Given the description of an element on the screen output the (x, y) to click on. 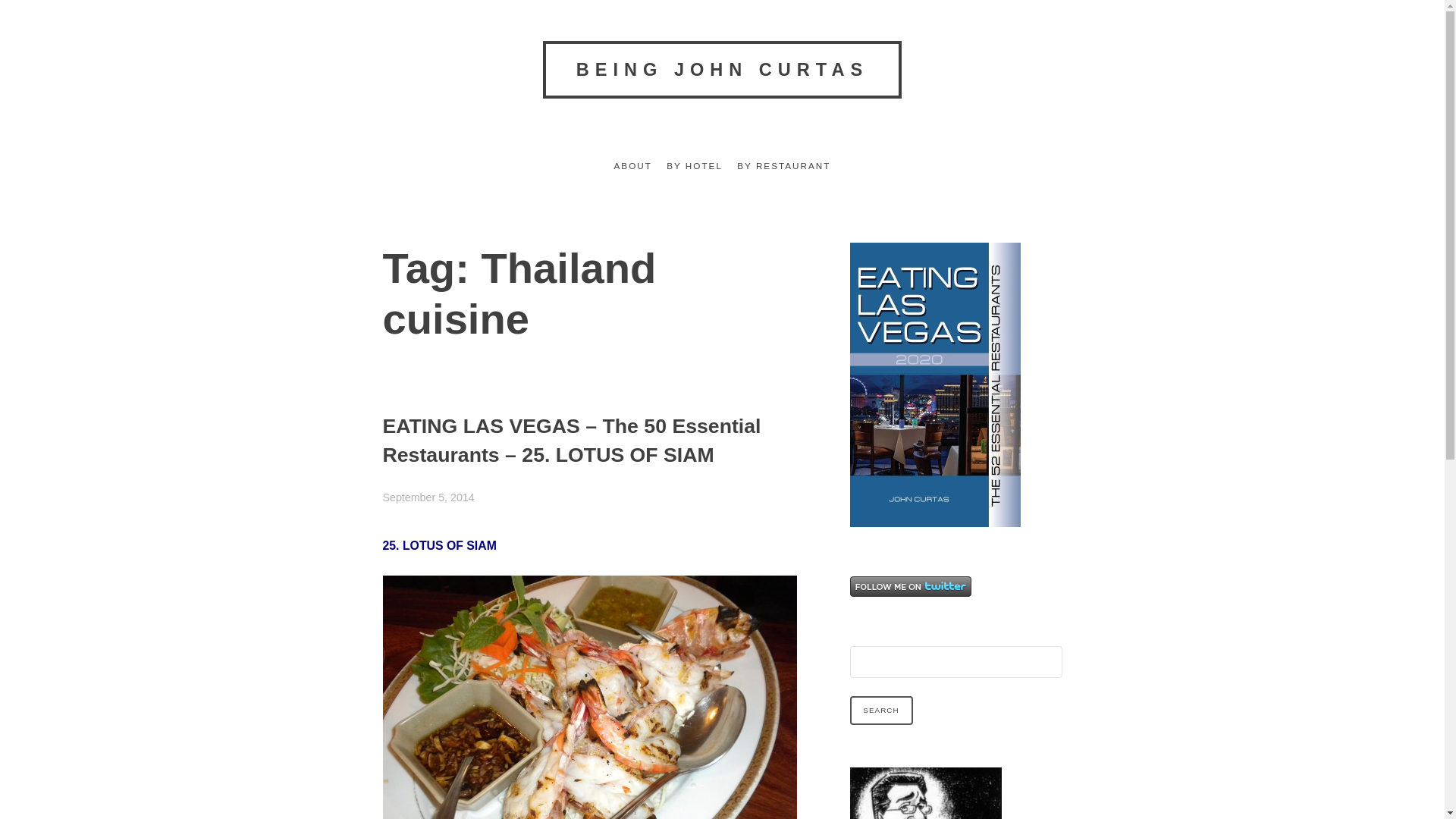
ABOUT (633, 166)
BY RESTAURANT (782, 166)
Search (880, 710)
September 5, 2014 (427, 497)
Search (880, 710)
BY HOTEL (694, 166)
BEING JOHN CURTAS (722, 68)
